Given the description of an element on the screen output the (x, y) to click on. 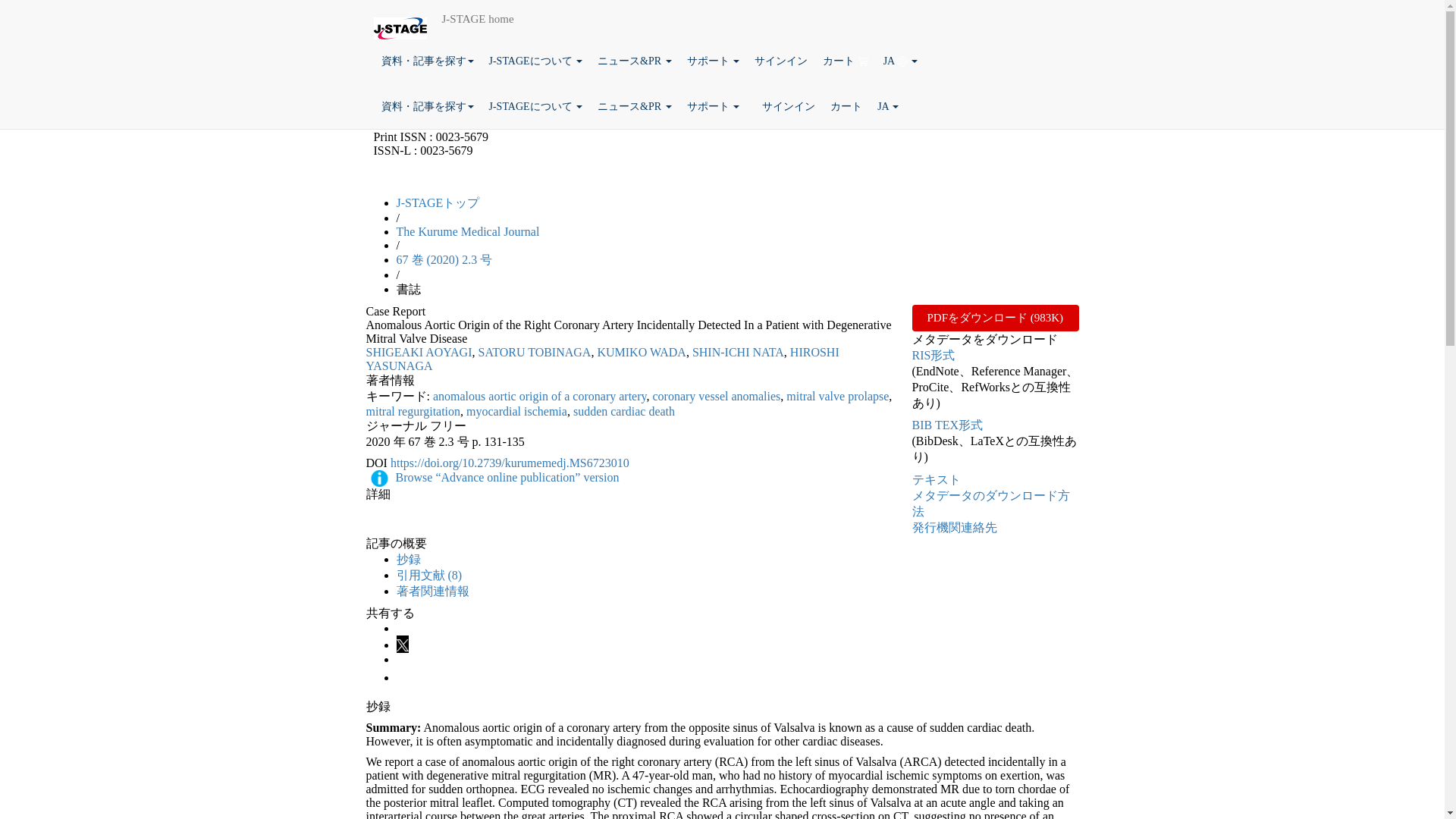
J-STAGE home (477, 18)
JA (901, 60)
